Given the description of an element on the screen output the (x, y) to click on. 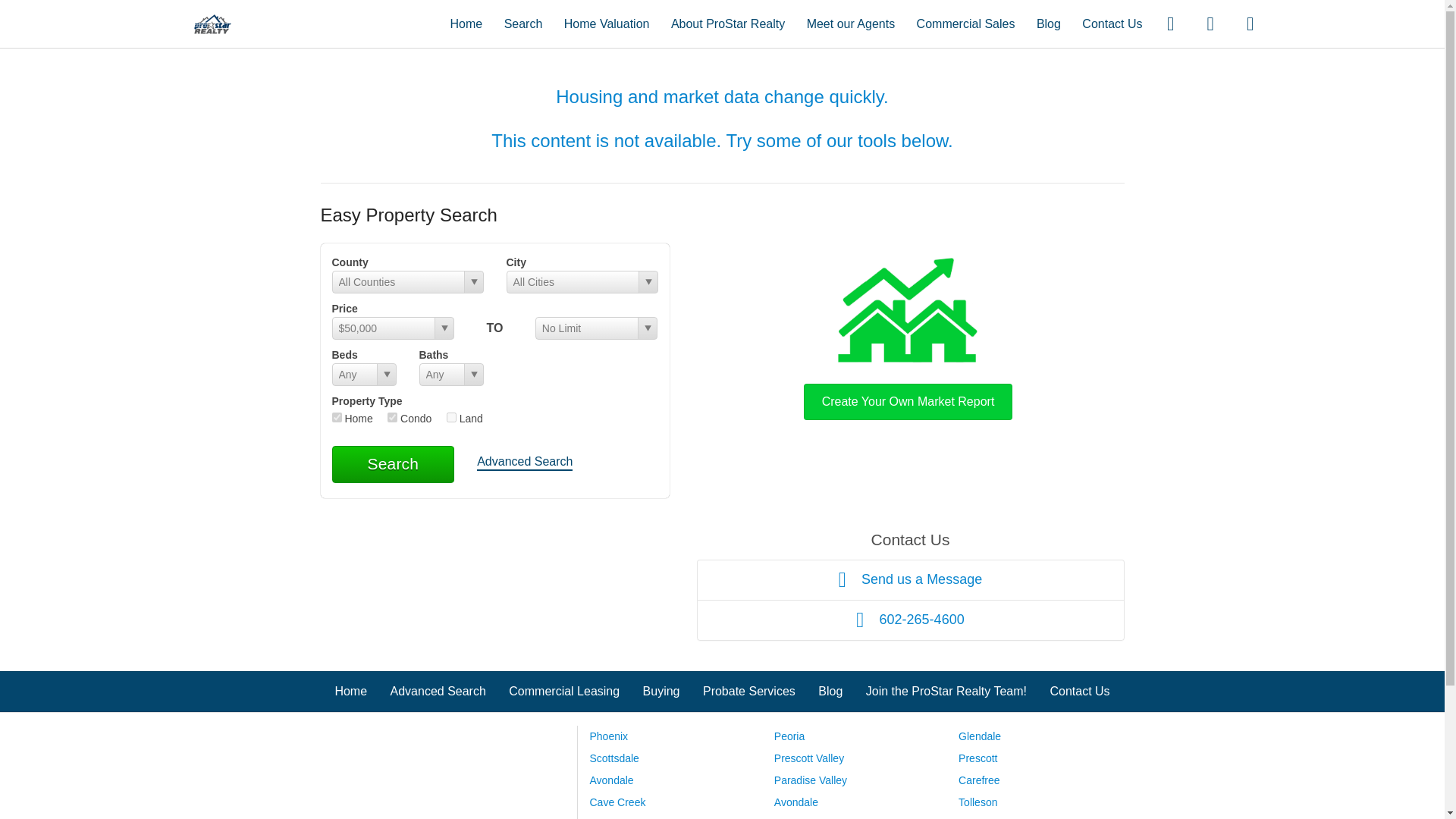
Probate Services (748, 690)
Commercial Leasing (564, 690)
Blog (830, 690)
602-265-4600 (909, 619)
res (336, 417)
Glendale (979, 736)
Search (392, 463)
About ProStar Realty (727, 23)
Advanced Search (524, 462)
Buying (661, 690)
